Given the description of an element on the screen output the (x, y) to click on. 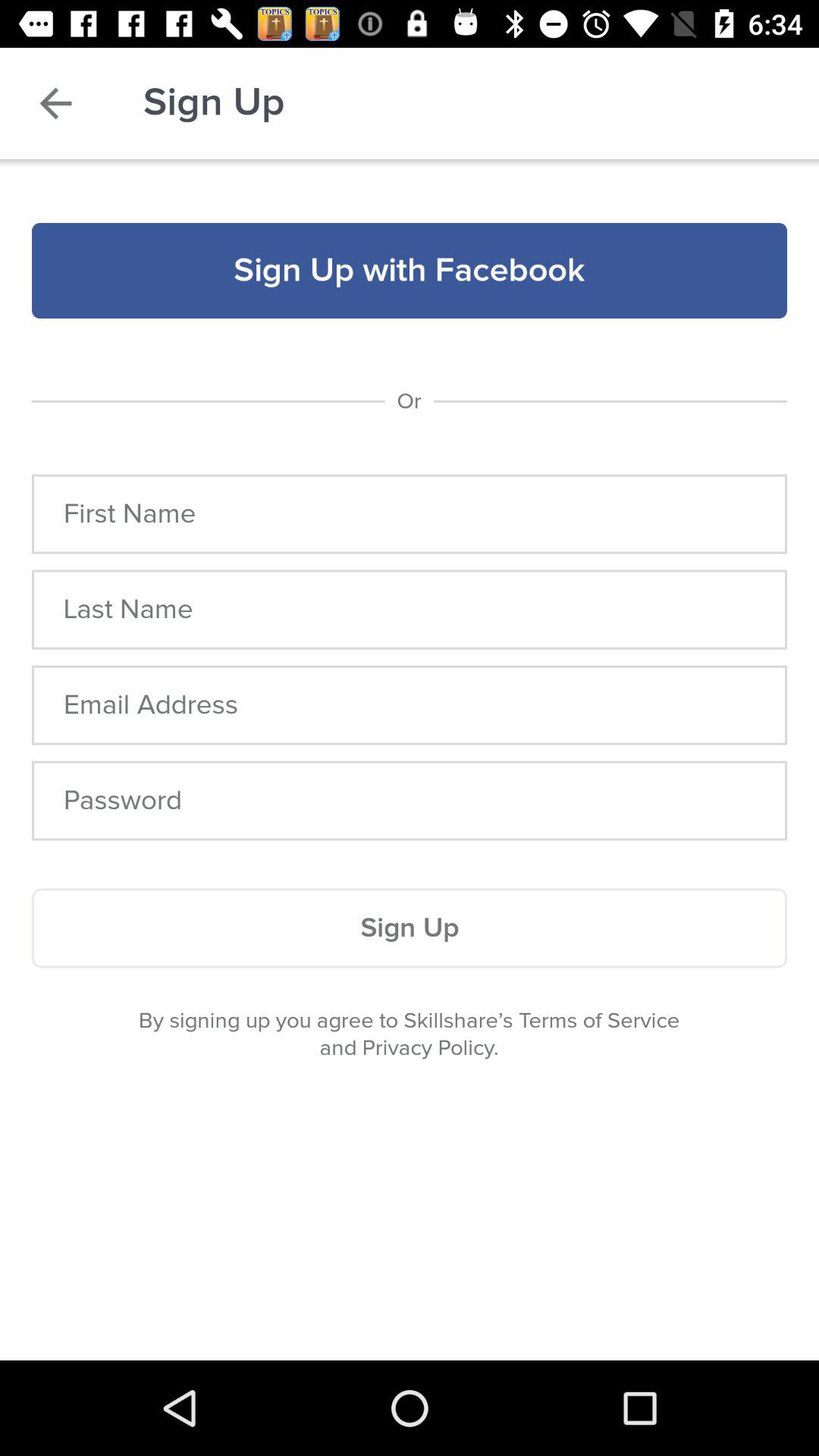
enter name (409, 513)
